Given the description of an element on the screen output the (x, y) to click on. 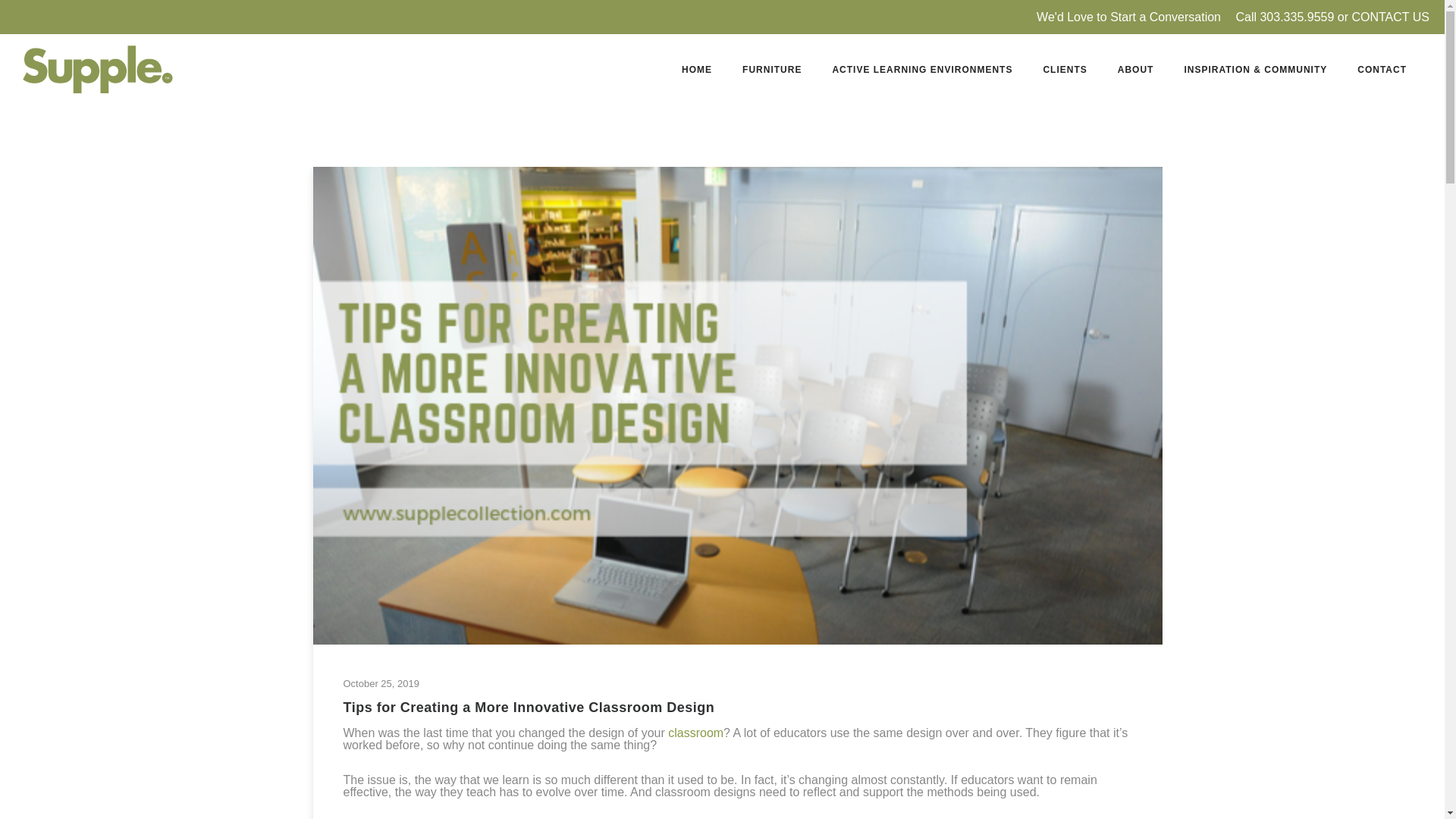
HOME (696, 69)
303.335.9559 or (1305, 16)
FURNITURE (771, 69)
Furniture (771, 69)
Home (696, 69)
CONTACT US (1390, 16)
